Given the description of an element on the screen output the (x, y) to click on. 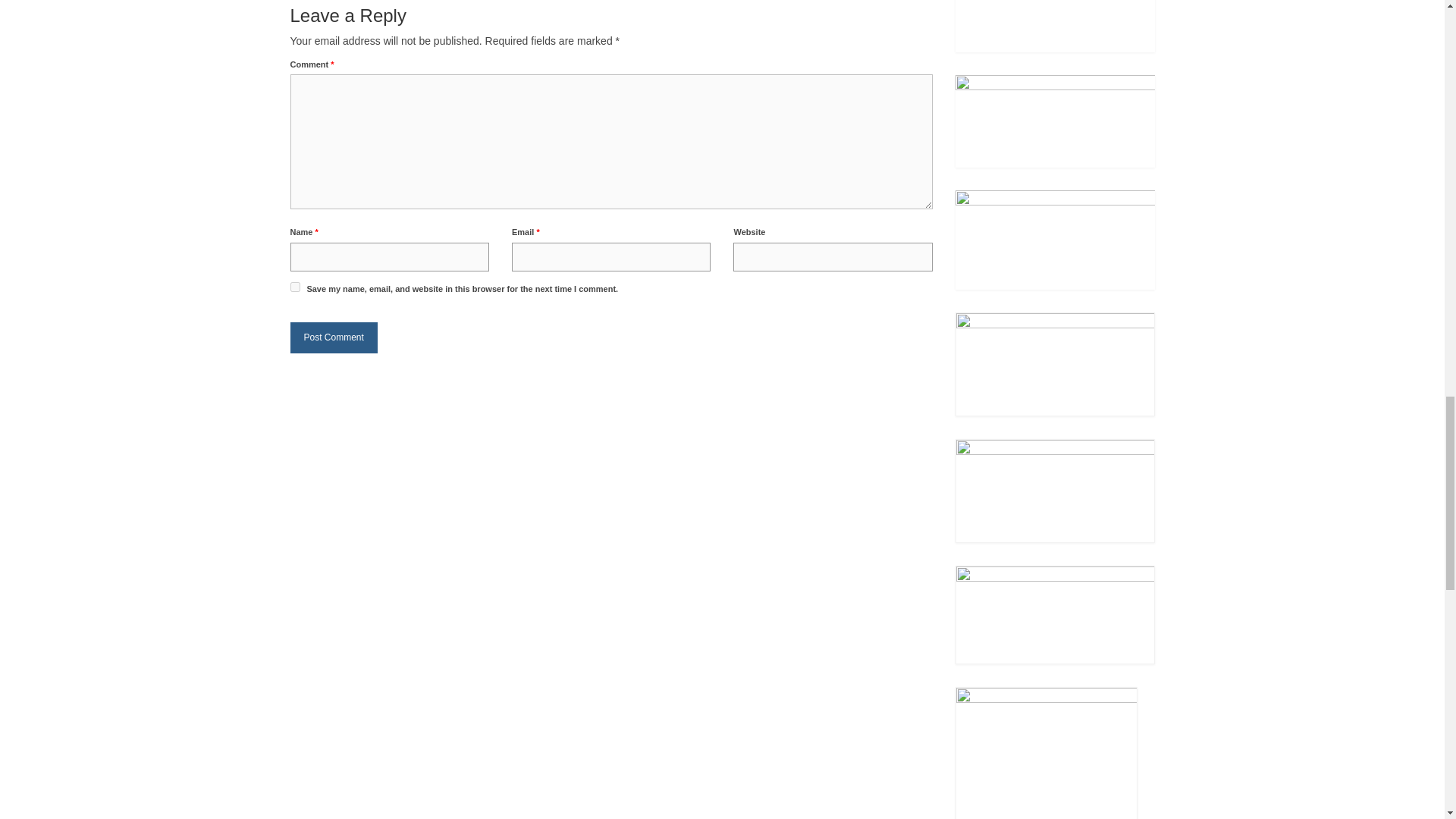
Post Comment (333, 337)
yes (294, 286)
Post Comment (333, 337)
